Given the description of an element on the screen output the (x, y) to click on. 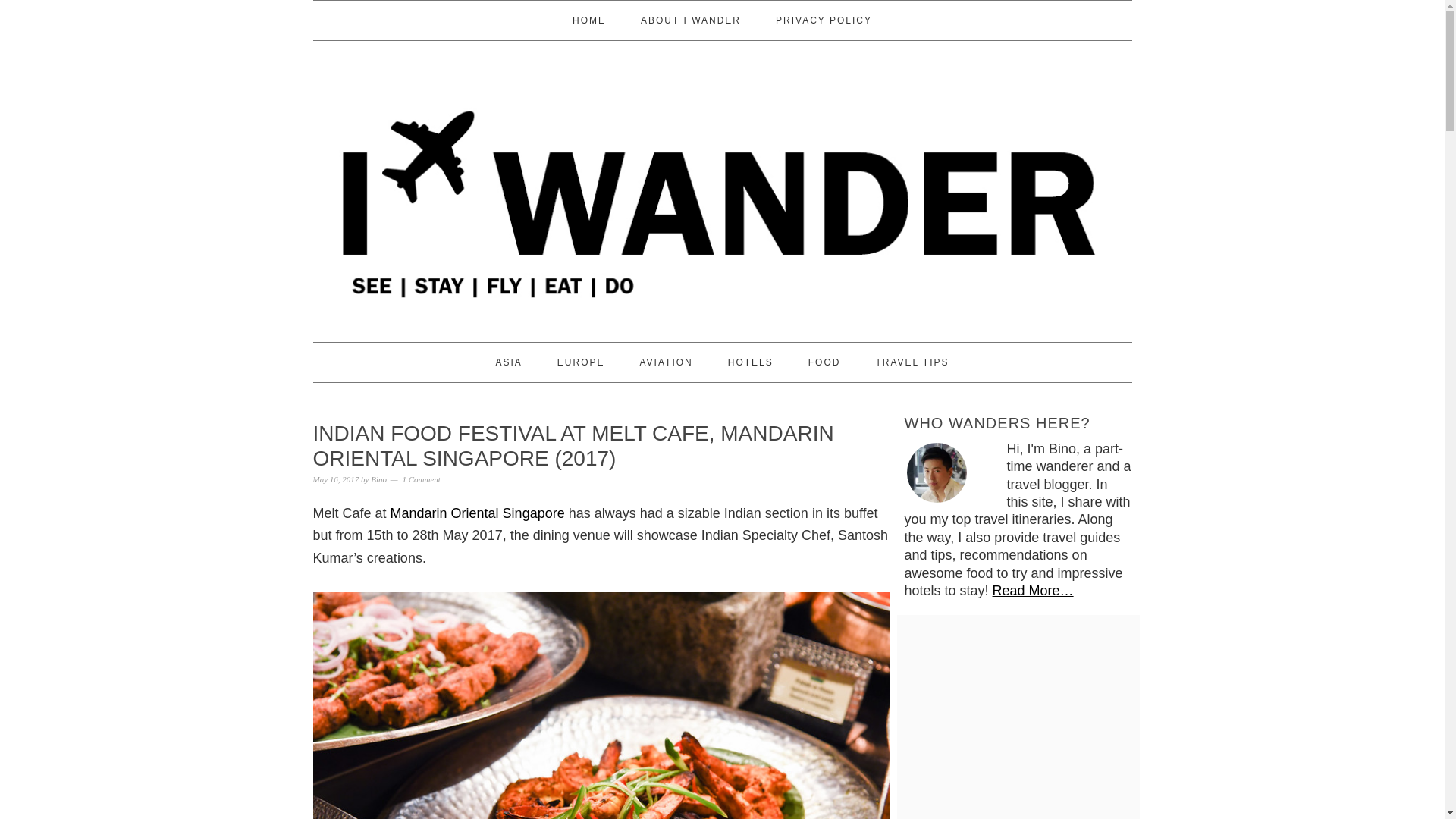
Mandarin Oriental Singapore (477, 513)
ABOUT I WANDER (690, 20)
EUROPE (580, 362)
1 Comment (420, 479)
PRIVACY POLICY (823, 20)
AVIATION (666, 362)
HOME (589, 20)
HOTELS (750, 362)
FOOD (824, 362)
Bino (379, 479)
TRAVEL TIPS (912, 362)
ASIA (508, 362)
